Given the description of an element on the screen output the (x, y) to click on. 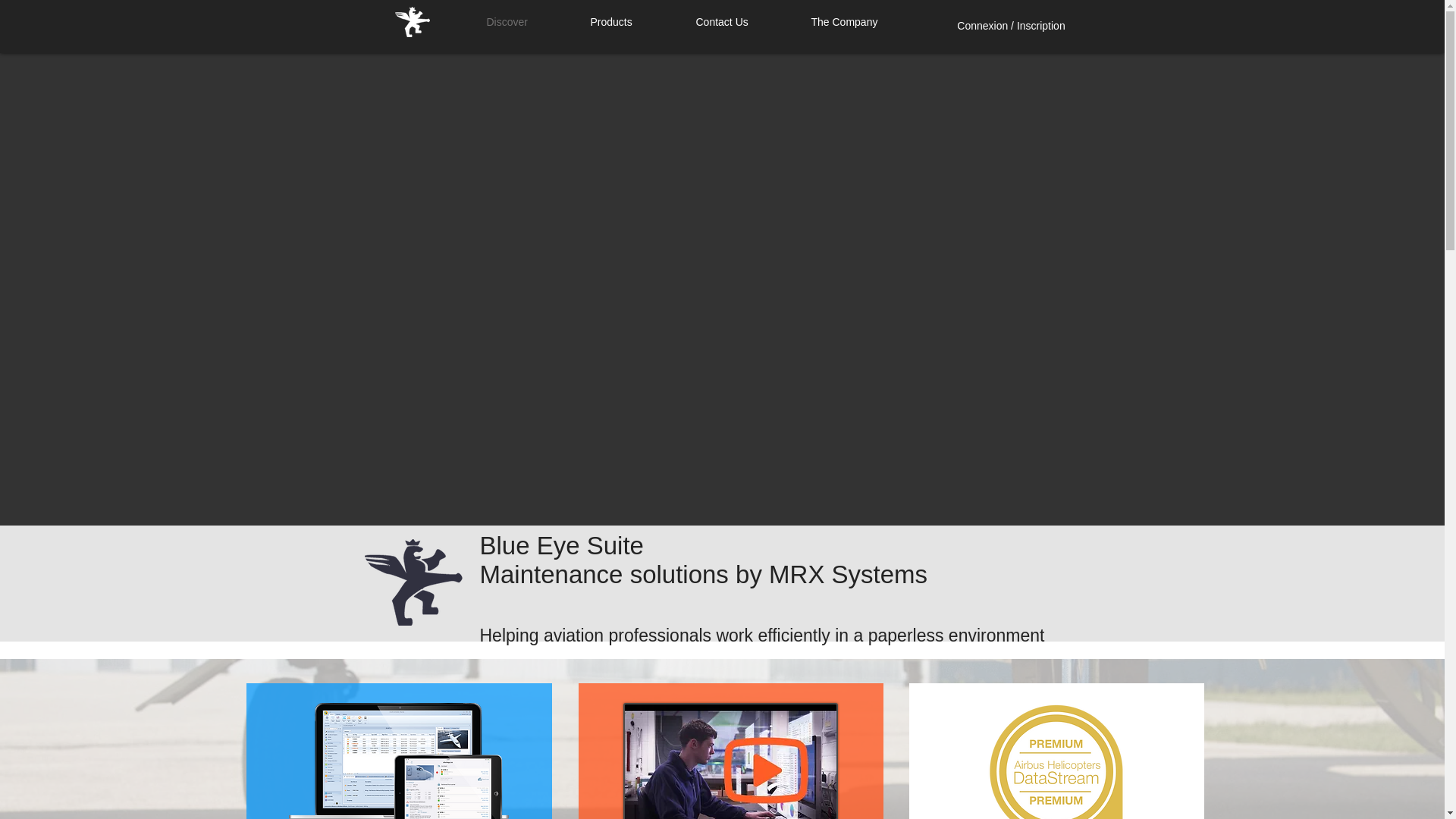
ProductsOverview.png (398, 760)
Contact Us (741, 22)
LogoMRXWhite.png (411, 21)
LogoBlack.png (412, 581)
Discover (526, 22)
